Given the description of an element on the screen output the (x, y) to click on. 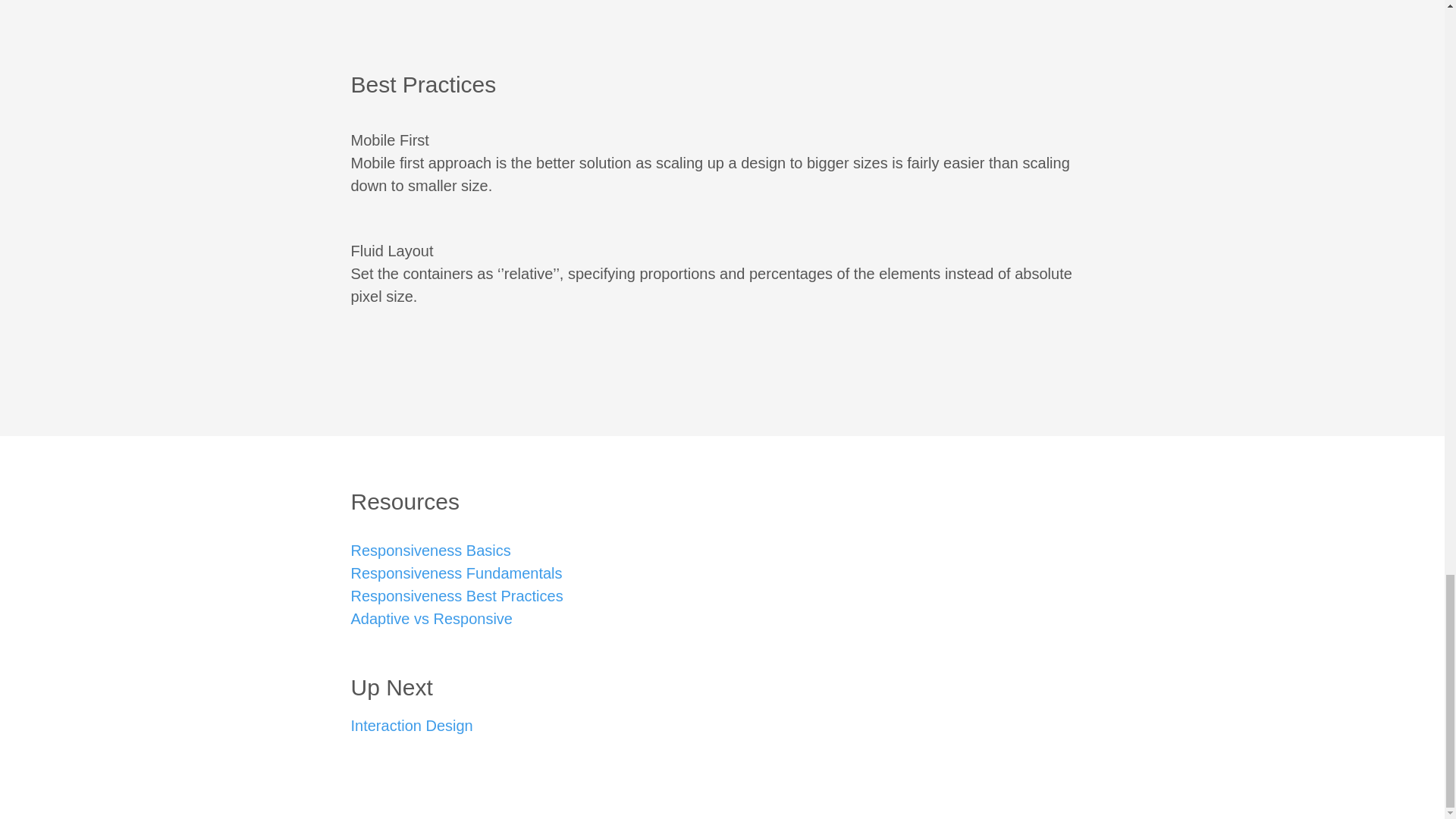
Interaction Design (410, 725)
Responsiveness Fundamentals (456, 573)
Adaptive vs Responsive (431, 618)
Responsiveness Best Practices (456, 596)
Responsiveness Basics (430, 550)
